Given the description of an element on the screen output the (x, y) to click on. 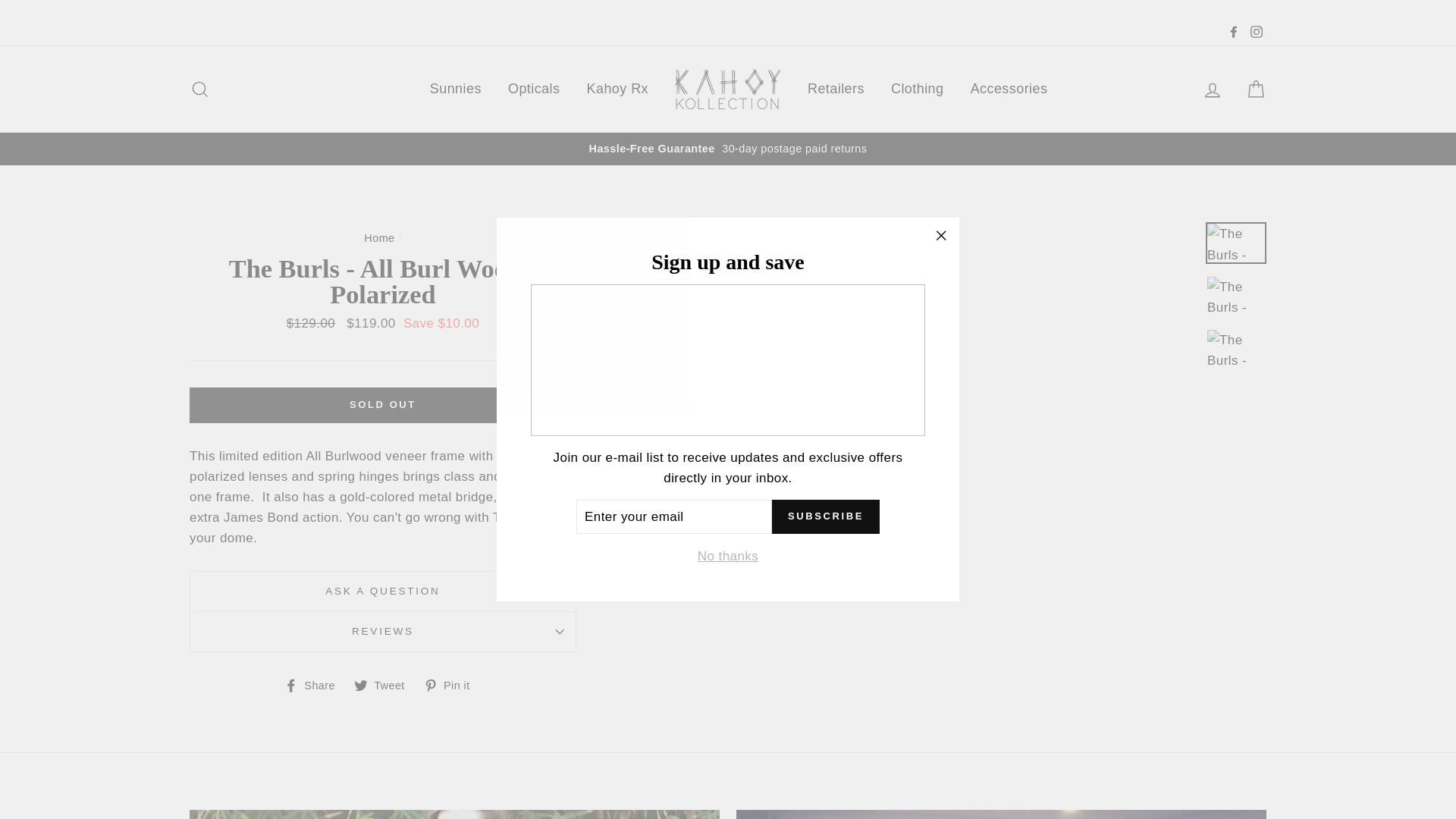
Share on Facebook (314, 685)
Pin on Pinterest (452, 685)
Back to the frontpage (379, 237)
Accessories (1009, 89)
ASK A QUESTION (382, 590)
Retailers (836, 89)
Tweet on Twitter (384, 685)
Sunnies (456, 89)
Clothing (917, 89)
Kahoy Rx (617, 89)
Opticals (533, 89)
Cart (1255, 89)
Home (379, 237)
SOLD OUT (382, 404)
